Given the description of an element on the screen output the (x, y) to click on. 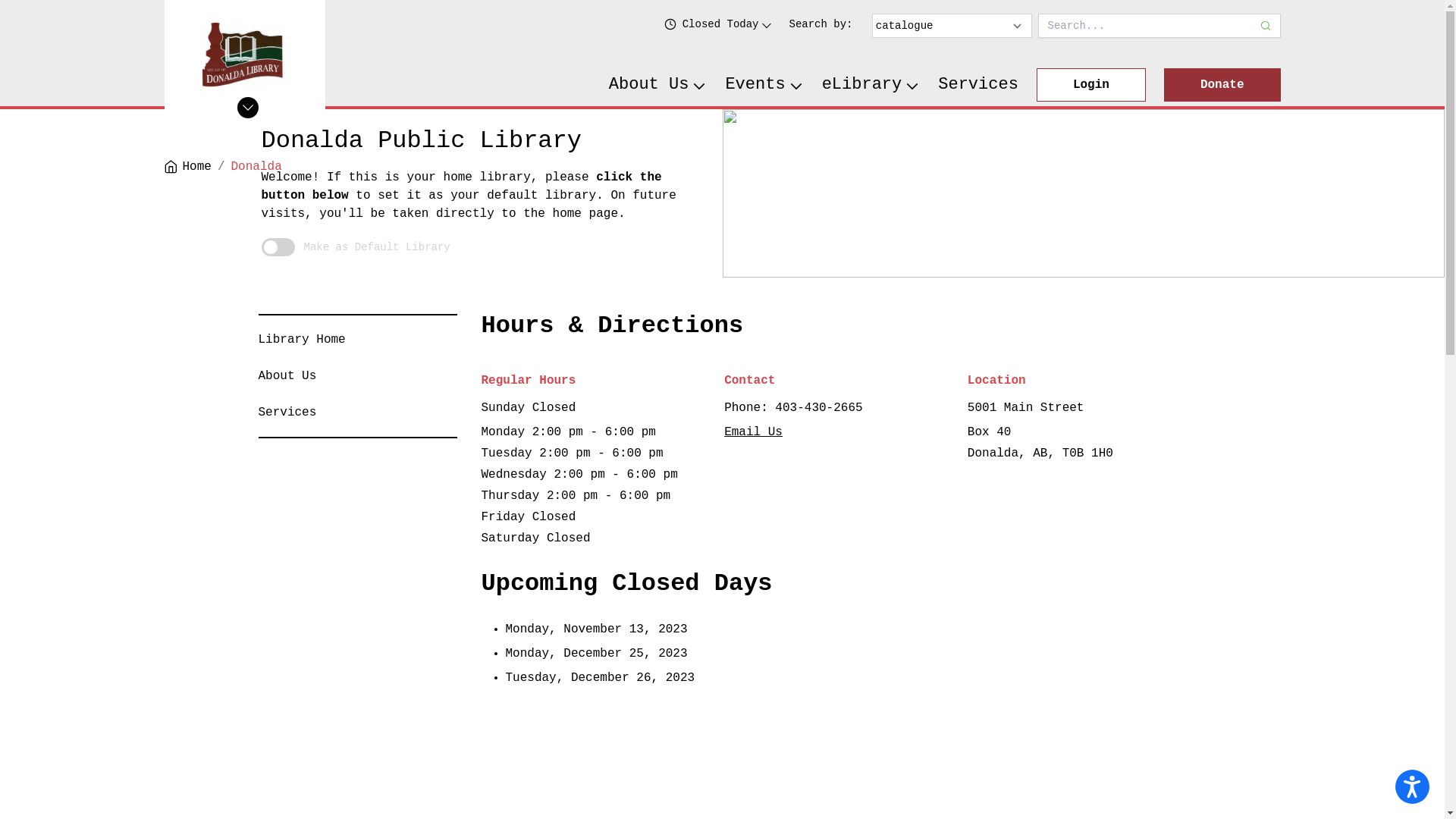
eLibrary Element type: text (871, 84)
About Us Element type: text (286, 375)
Login Element type: text (1090, 84)
Library Home Element type: text (301, 339)
Donate Element type: text (1222, 84)
Email Us Element type: text (753, 432)
Events Element type: text (763, 84)
Home Element type: text (186, 166)
About Us Element type: text (657, 84)
Services Element type: text (286, 412)
Donalda Element type: text (256, 166)
Services Element type: text (978, 84)
